Given the description of an element on the screen output the (x, y) to click on. 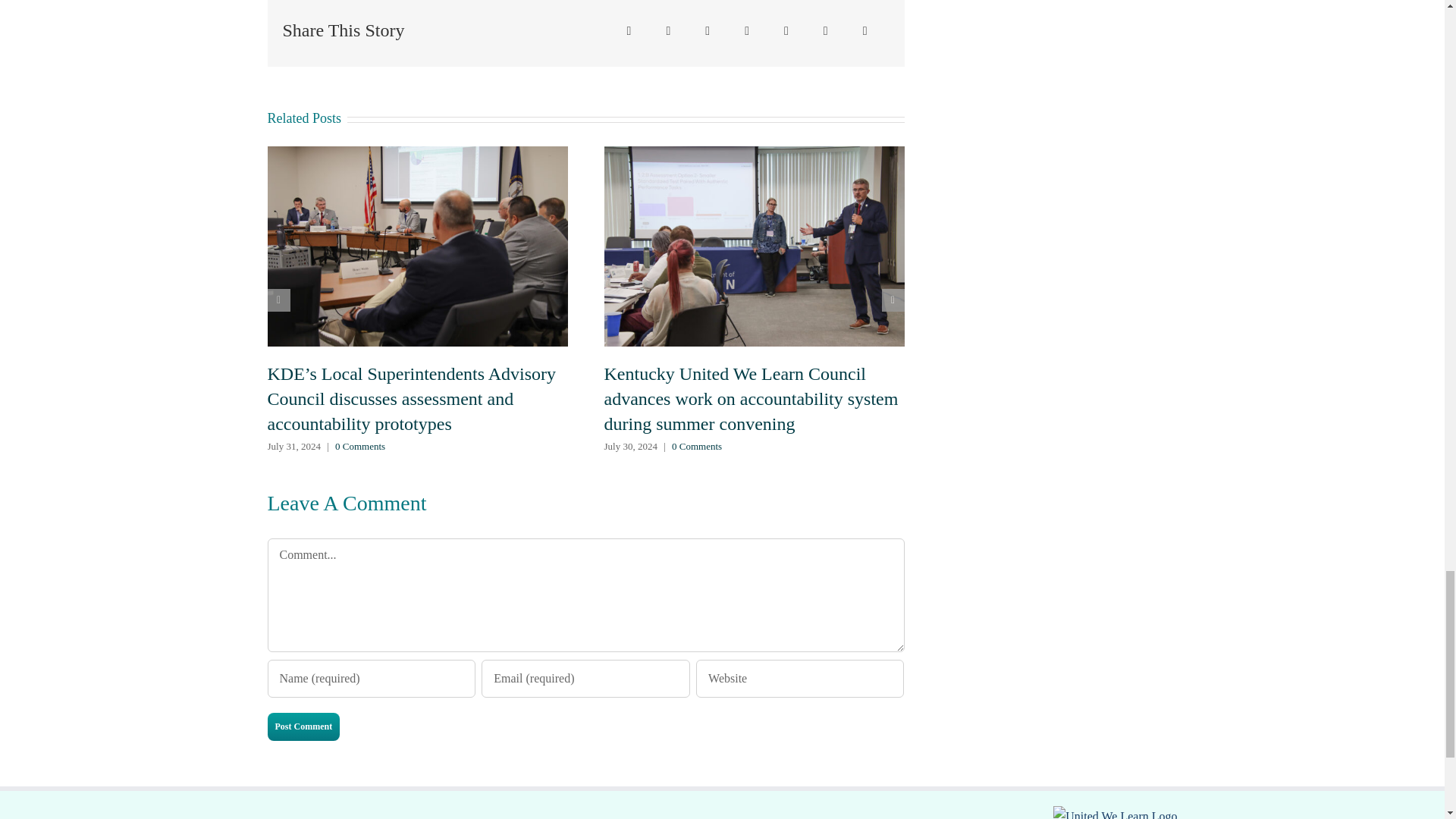
Post Comment (302, 726)
